Given the description of an element on the screen output the (x, y) to click on. 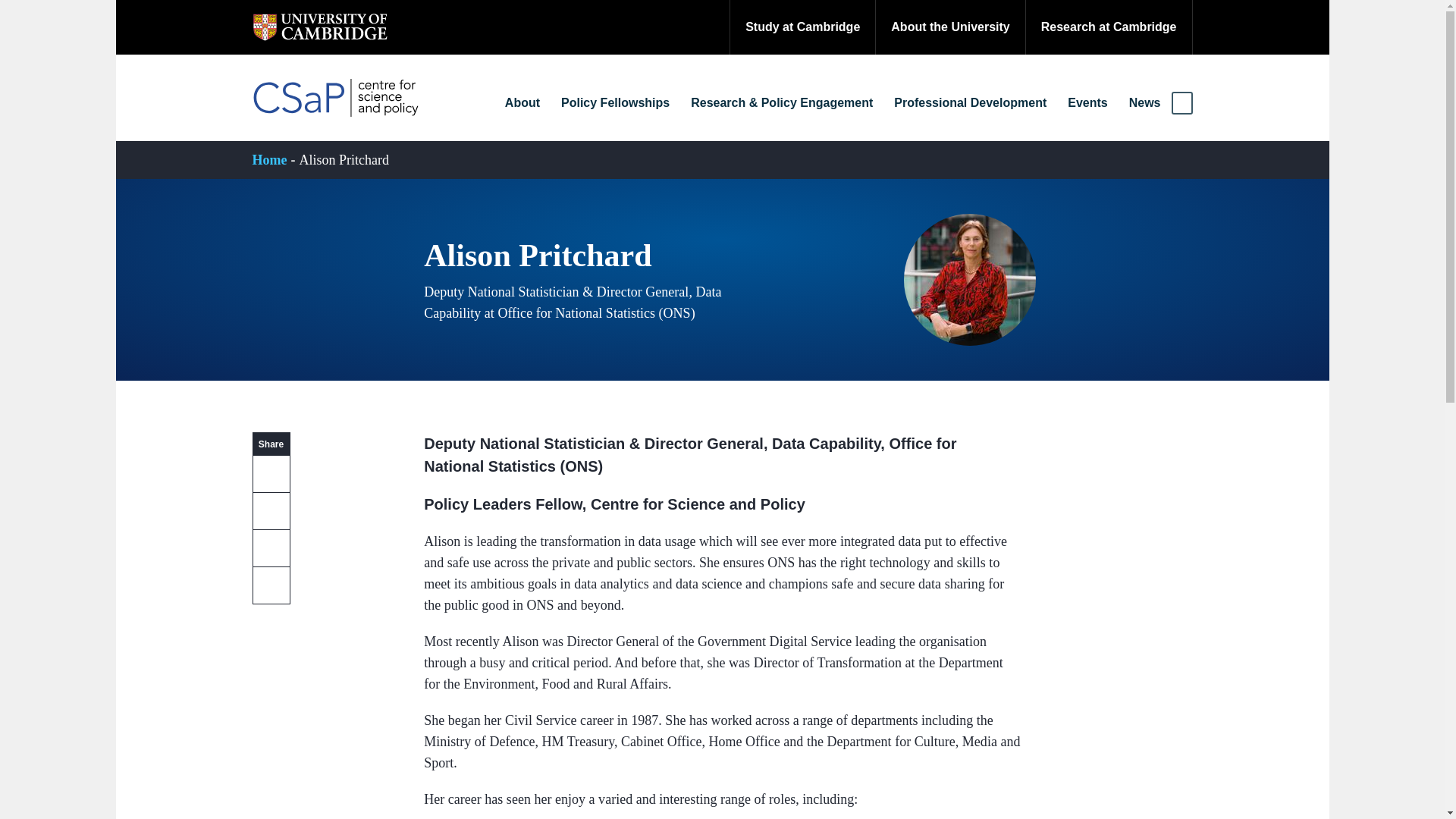
Events (1086, 102)
About (522, 102)
Professional Development (970, 102)
Research at Cambridge (1108, 27)
Policy Fellowships (614, 102)
About the University (950, 27)
Study at Cambridge (802, 27)
